Given the description of an element on the screen output the (x, y) to click on. 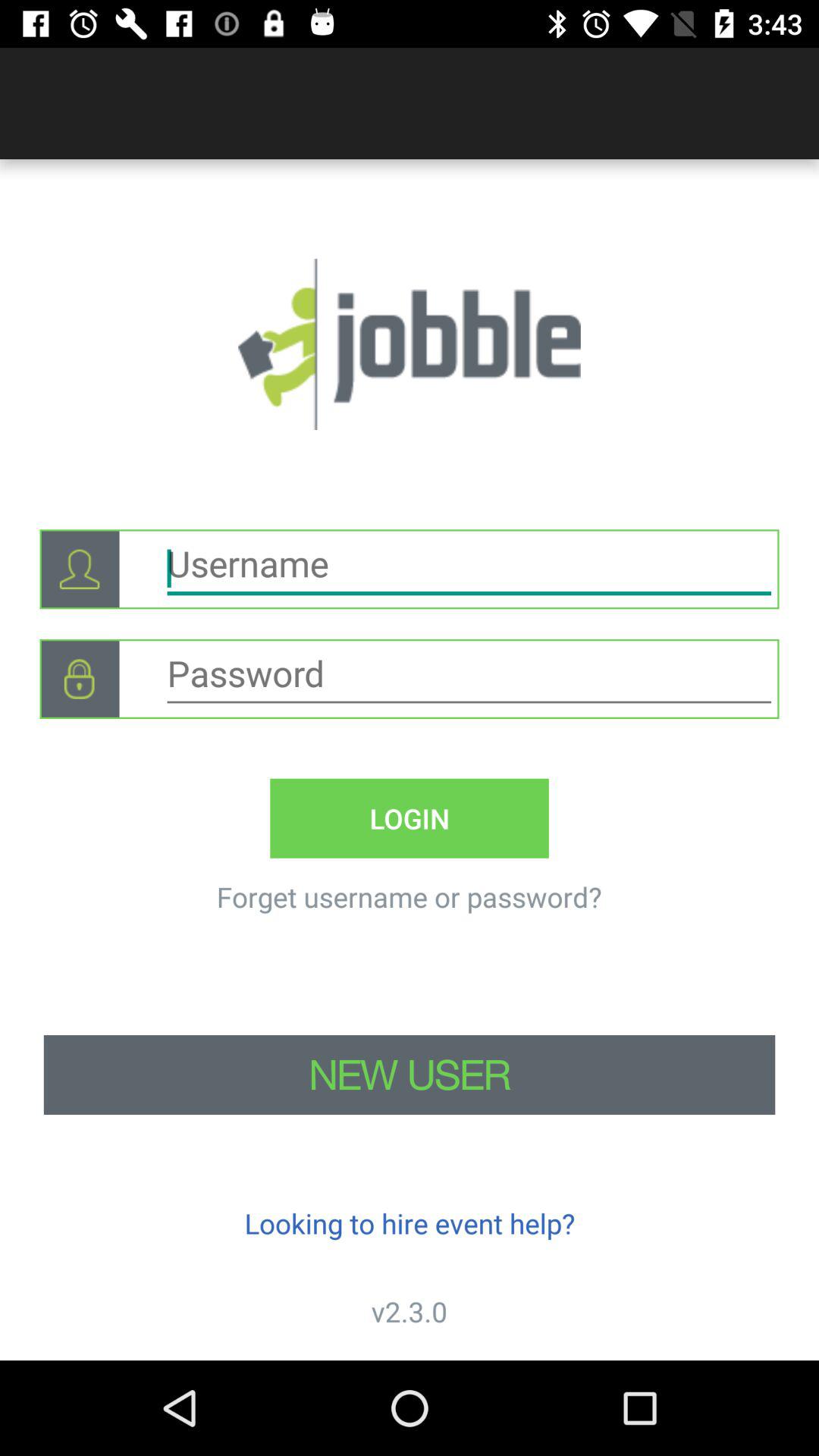
turn off the icon above forget username or item (409, 818)
